Given the description of an element on the screen output the (x, y) to click on. 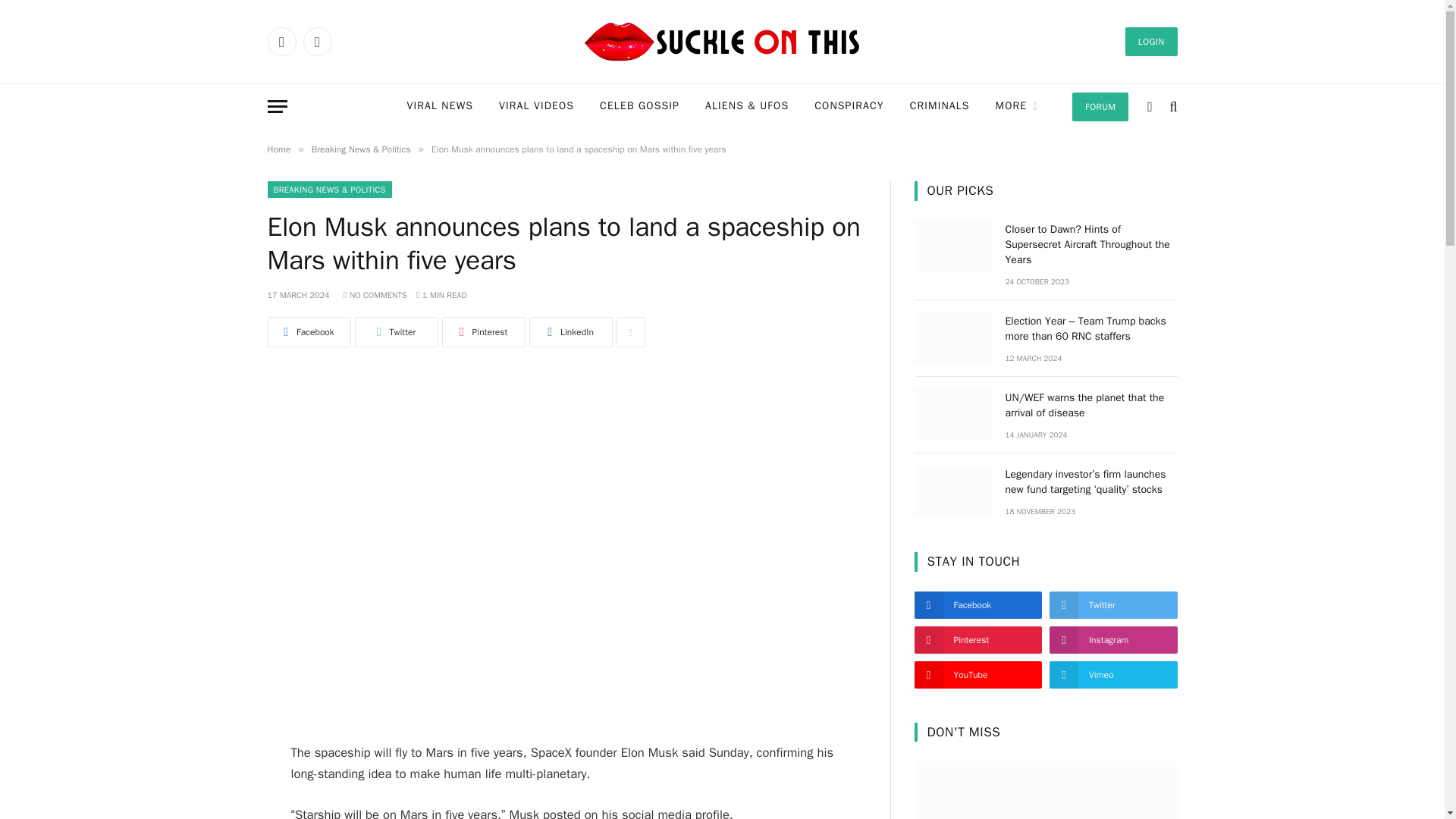
Share on Facebook (308, 331)
CONSPIRACY (849, 106)
VIRAL VIDEOS (536, 106)
suckleonthis.com (721, 41)
CELEB GOSSIP (639, 106)
MORE (1016, 106)
Share on LinkedIn (570, 331)
VIRAL NEWS (439, 106)
Share on Pinterest (482, 331)
